Given the description of an element on the screen output the (x, y) to click on. 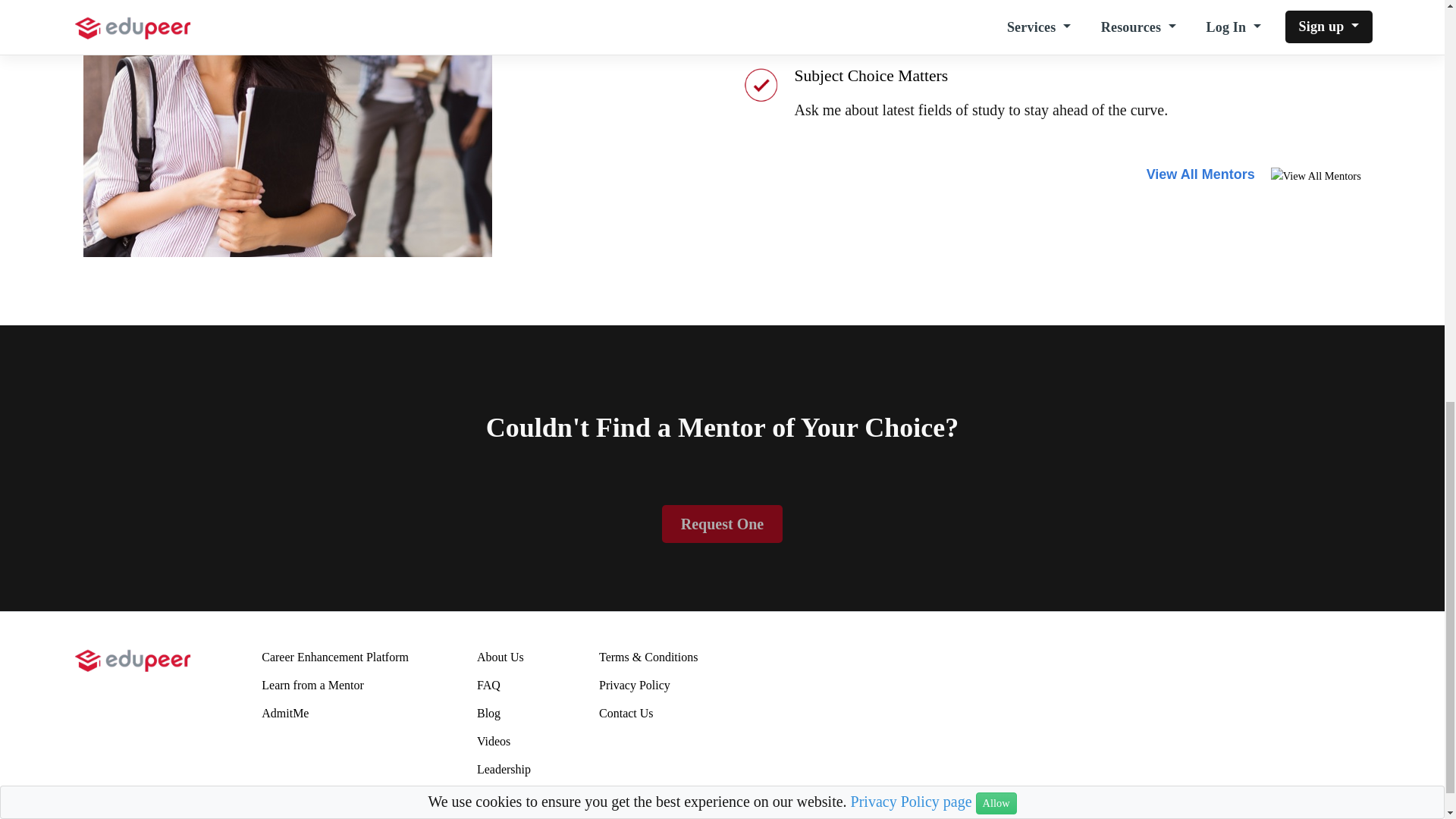
Request One (722, 523)
Career Enhancement Platform (335, 656)
View All Mentors (1203, 174)
Career Enhancement Platform (335, 662)
